Given the description of an element on the screen output the (x, y) to click on. 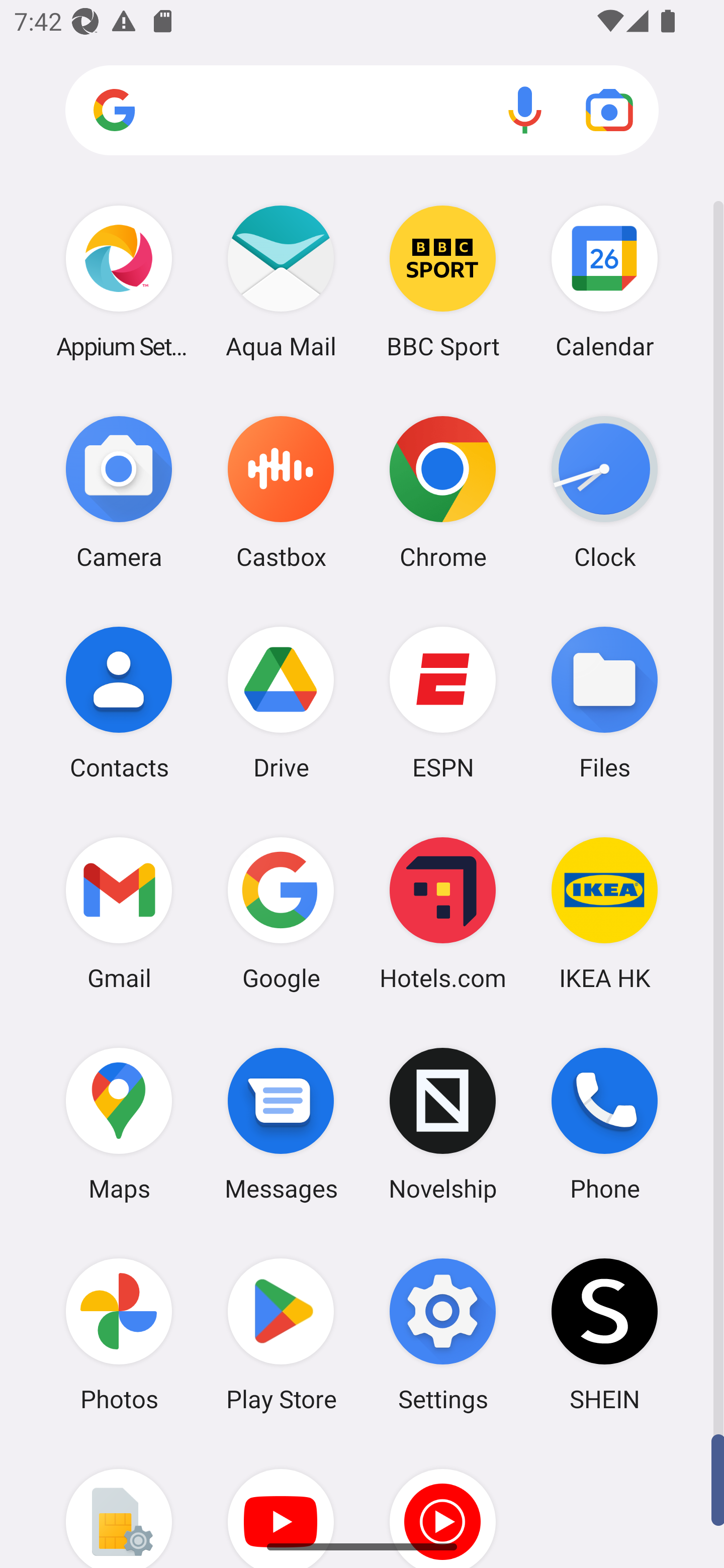
Search apps, web and more (361, 110)
Voice search (524, 109)
Google Lens (608, 109)
Appium Settings (118, 281)
Aqua Mail (280, 281)
BBC Sport (443, 281)
Calendar (604, 281)
Camera (118, 492)
Castbox (280, 492)
Chrome (443, 492)
Clock (604, 492)
Contacts (118, 702)
Drive (280, 702)
ESPN (443, 702)
Files (604, 702)
Gmail (118, 913)
Google (280, 913)
Hotels.com (443, 913)
IKEA HK (604, 913)
Maps (118, 1124)
Messages (280, 1124)
Novelship (443, 1124)
Phone (604, 1124)
Photos (118, 1334)
Play Store (280, 1334)
Settings (443, 1334)
SHEIN (604, 1334)
TMoble (118, 1503)
YouTube (280, 1503)
YT Music (443, 1503)
